Given the description of an element on the screen output the (x, y) to click on. 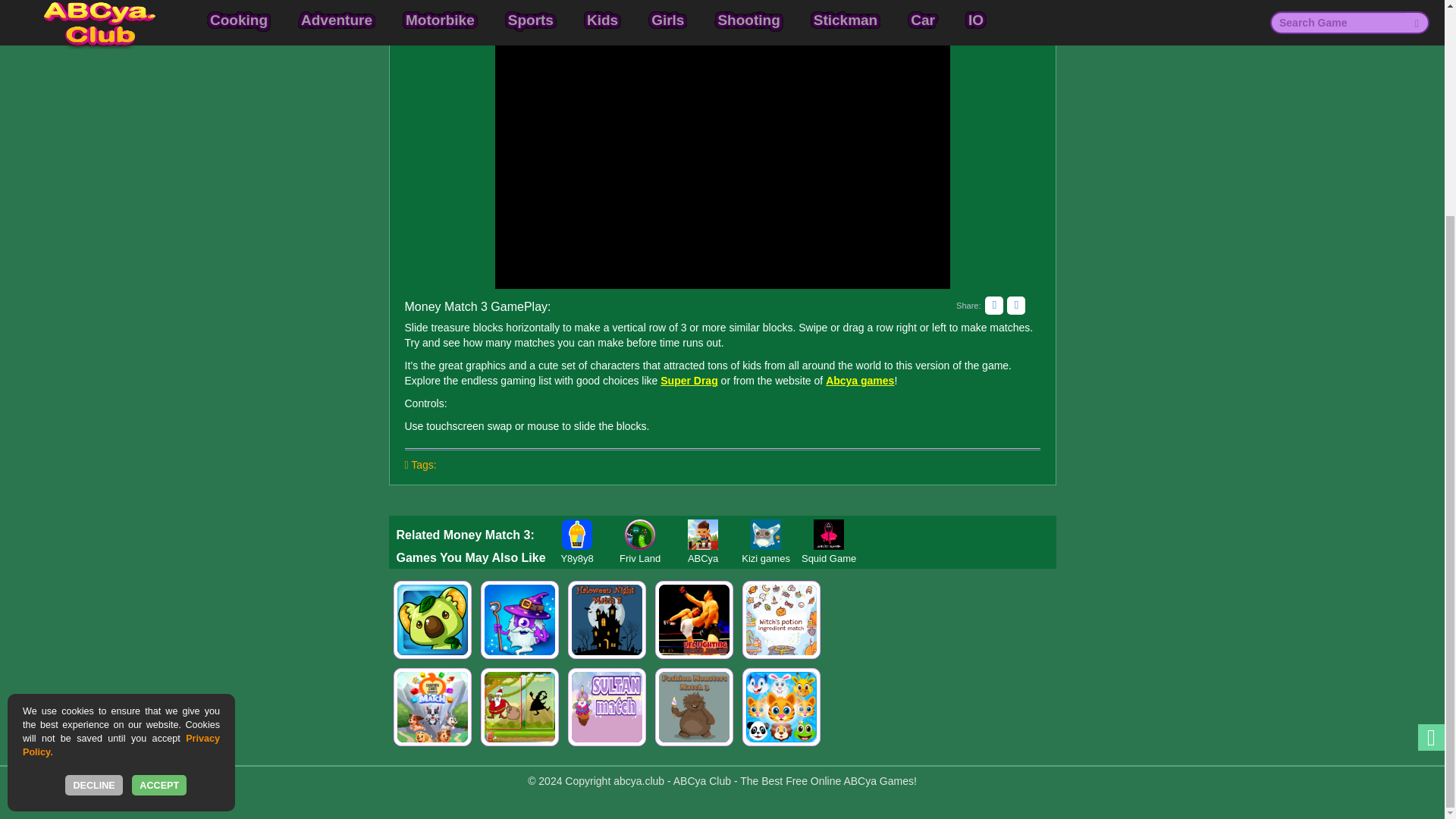
Kizi games (766, 534)
Monster Match (432, 619)
Friv Land (639, 534)
Y8y8y8 (577, 534)
Heroes of Match-3 (519, 619)
Super Drag (689, 380)
Squid Game (828, 534)
ABCya (703, 534)
ABCya (703, 534)
Kizi games (766, 534)
